Given the description of an element on the screen output the (x, y) to click on. 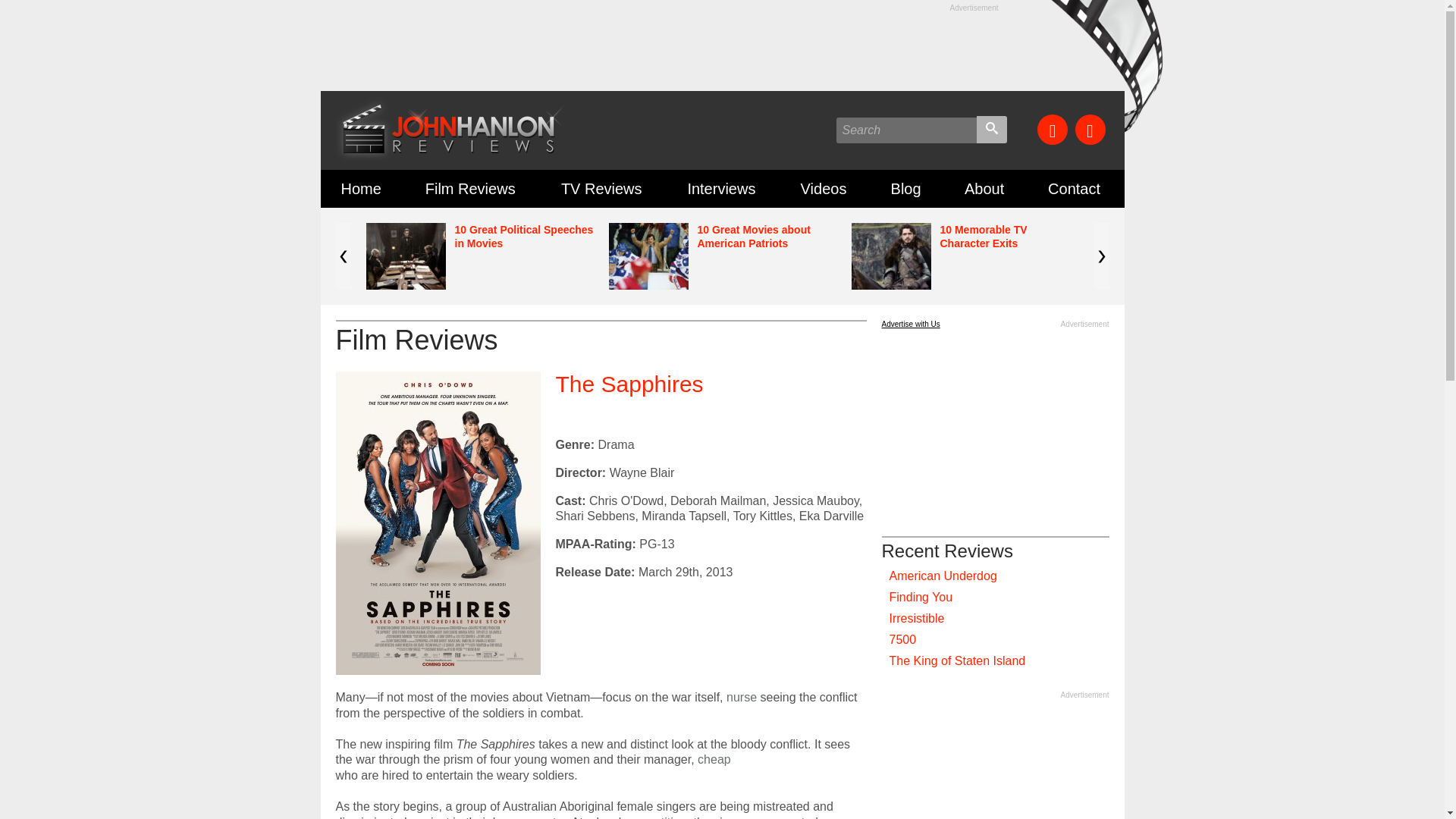
Home (362, 188)
About (985, 188)
Contact (1075, 188)
10 Great Political Speeches in Movies (524, 236)
Interviews (722, 188)
Blog (906, 188)
John Hanlon Movie Reviews Homepage (362, 188)
The Sapphires (628, 383)
TV Reviews (603, 188)
TV Reviews (603, 188)
